Given the description of an element on the screen output the (x, y) to click on. 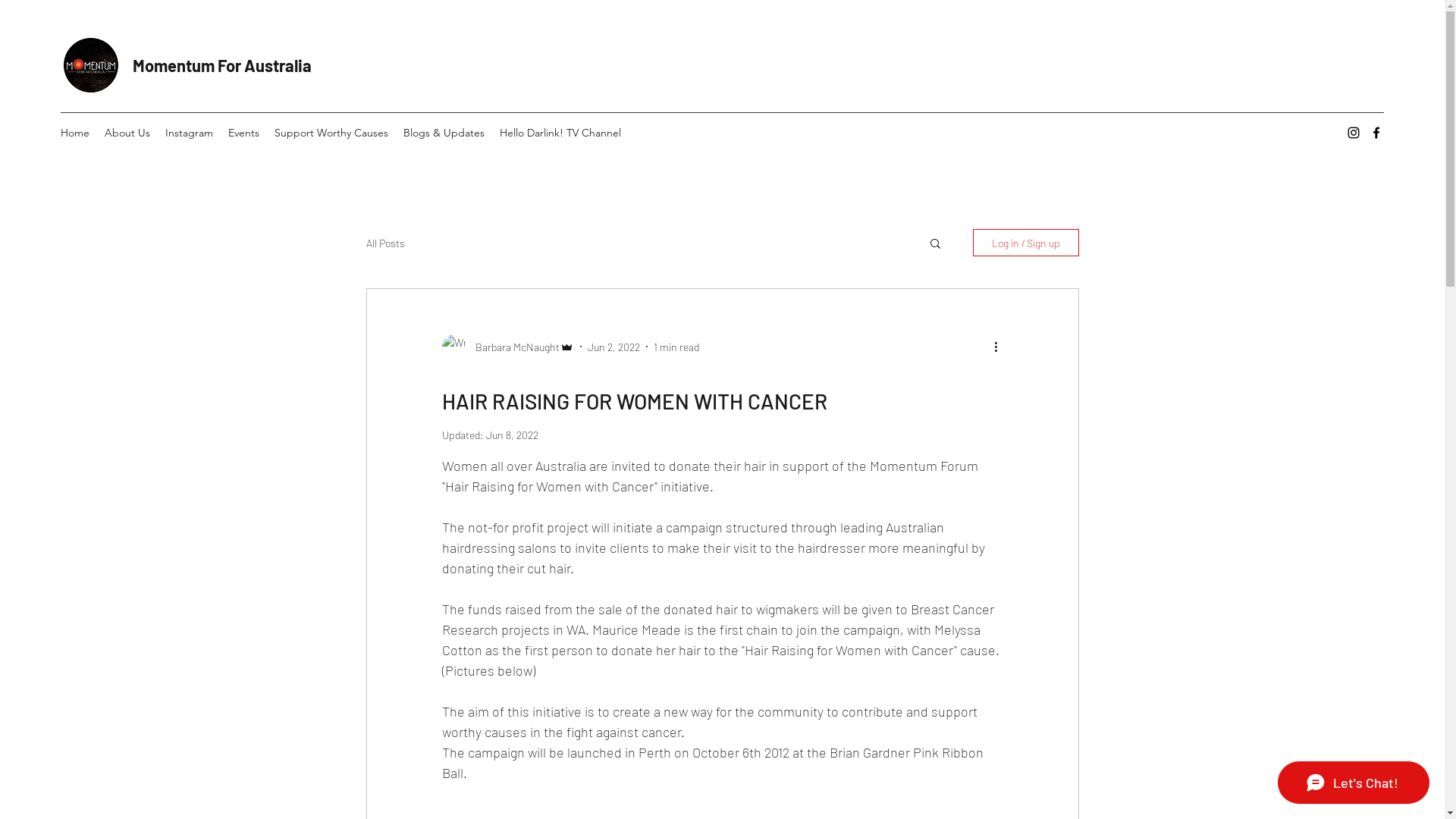
Support Worthy Causes Element type: text (330, 132)
About Us Element type: text (127, 132)
Blogs & Updates Element type: text (443, 132)
All Posts Element type: text (384, 242)
Log in / Sign up Element type: text (1025, 242)
Momentum For Australia Element type: text (221, 65)
Home Element type: text (75, 132)
Instagram Element type: text (188, 132)
Hello Darlink! TV Channel Element type: text (560, 132)
Events Element type: text (243, 132)
